Given the description of an element on the screen output the (x, y) to click on. 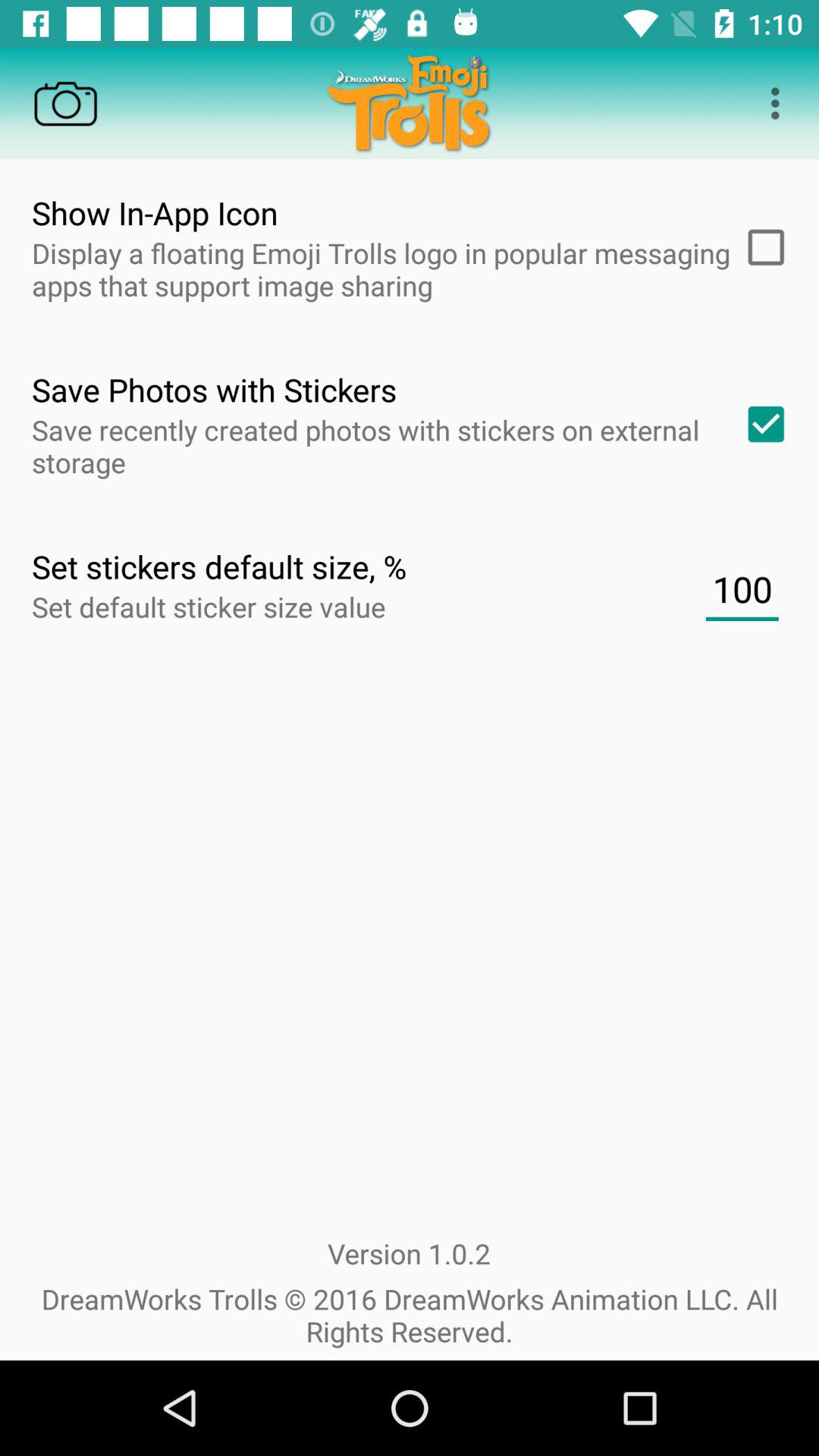
launch item to the right of display a floating item (760, 247)
